Given the description of an element on the screen output the (x, y) to click on. 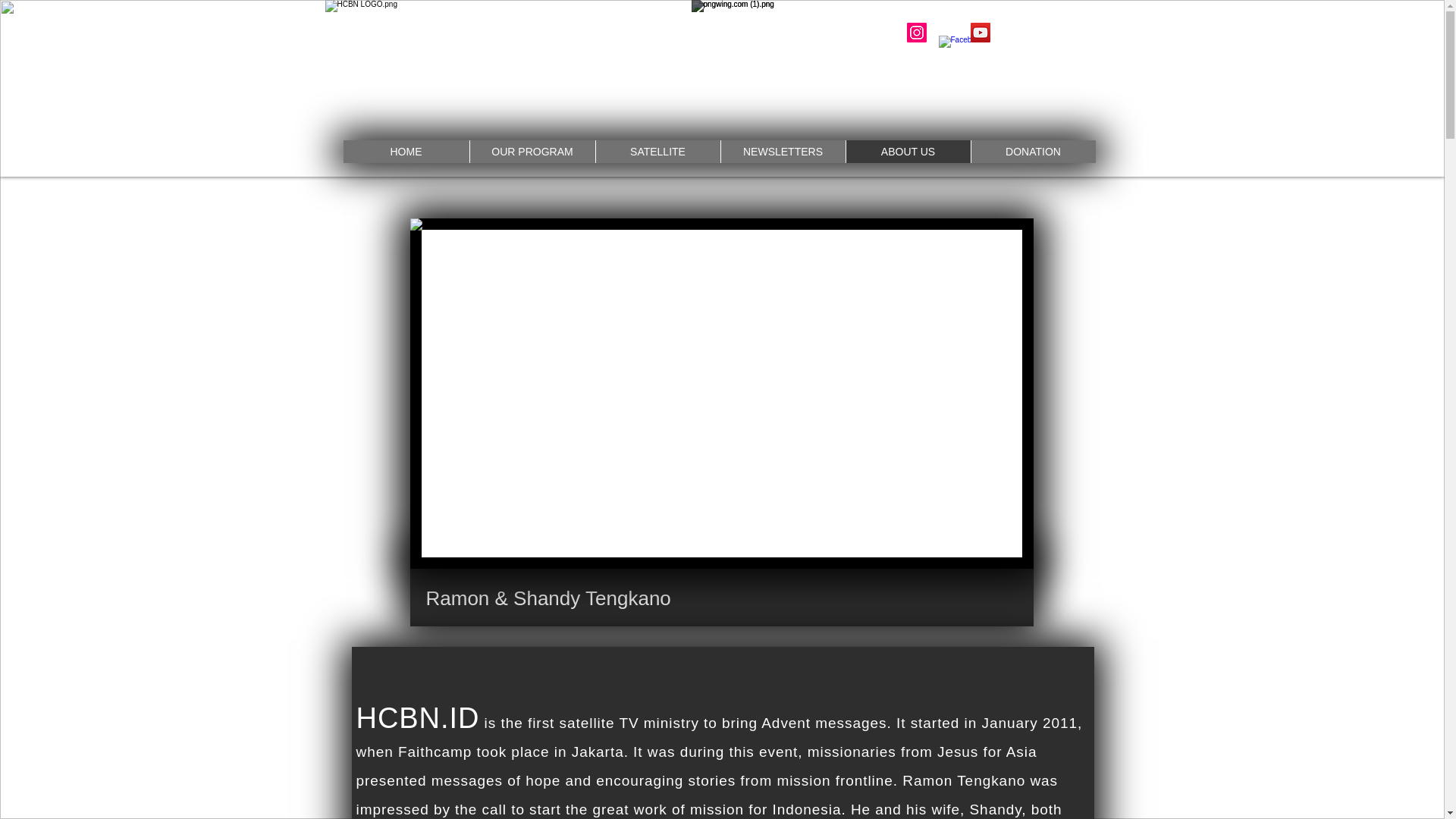
DONATION (1033, 151)
ABOUT US (906, 151)
HOME (405, 151)
SATELLITE (656, 151)
OUR PROGRAM (531, 151)
NEWSLETTERS (782, 151)
